Given the description of an element on the screen output the (x, y) to click on. 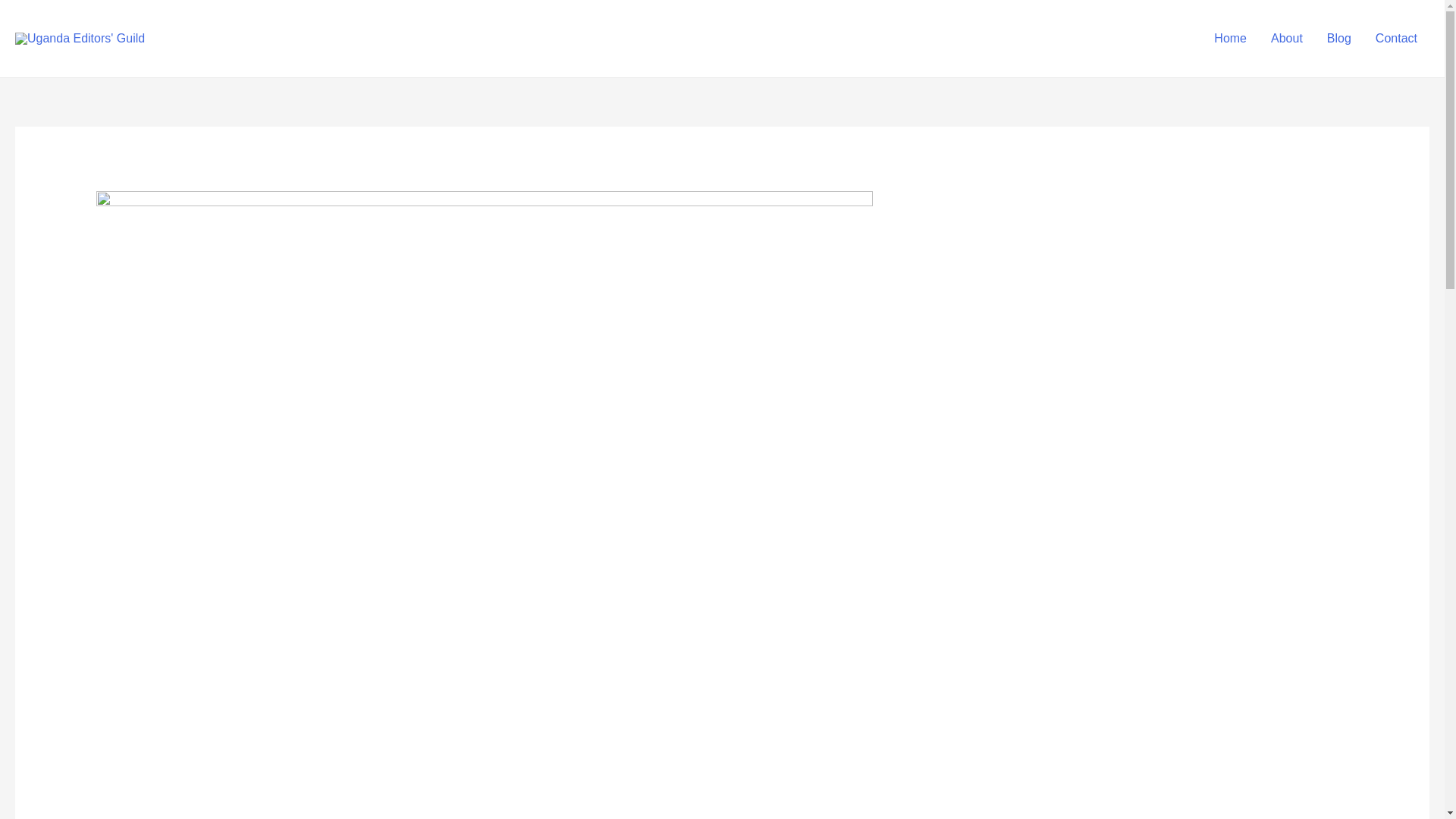
About (1286, 38)
Blog (1338, 38)
Home (1230, 38)
Contact (1395, 38)
